Given the description of an element on the screen output the (x, y) to click on. 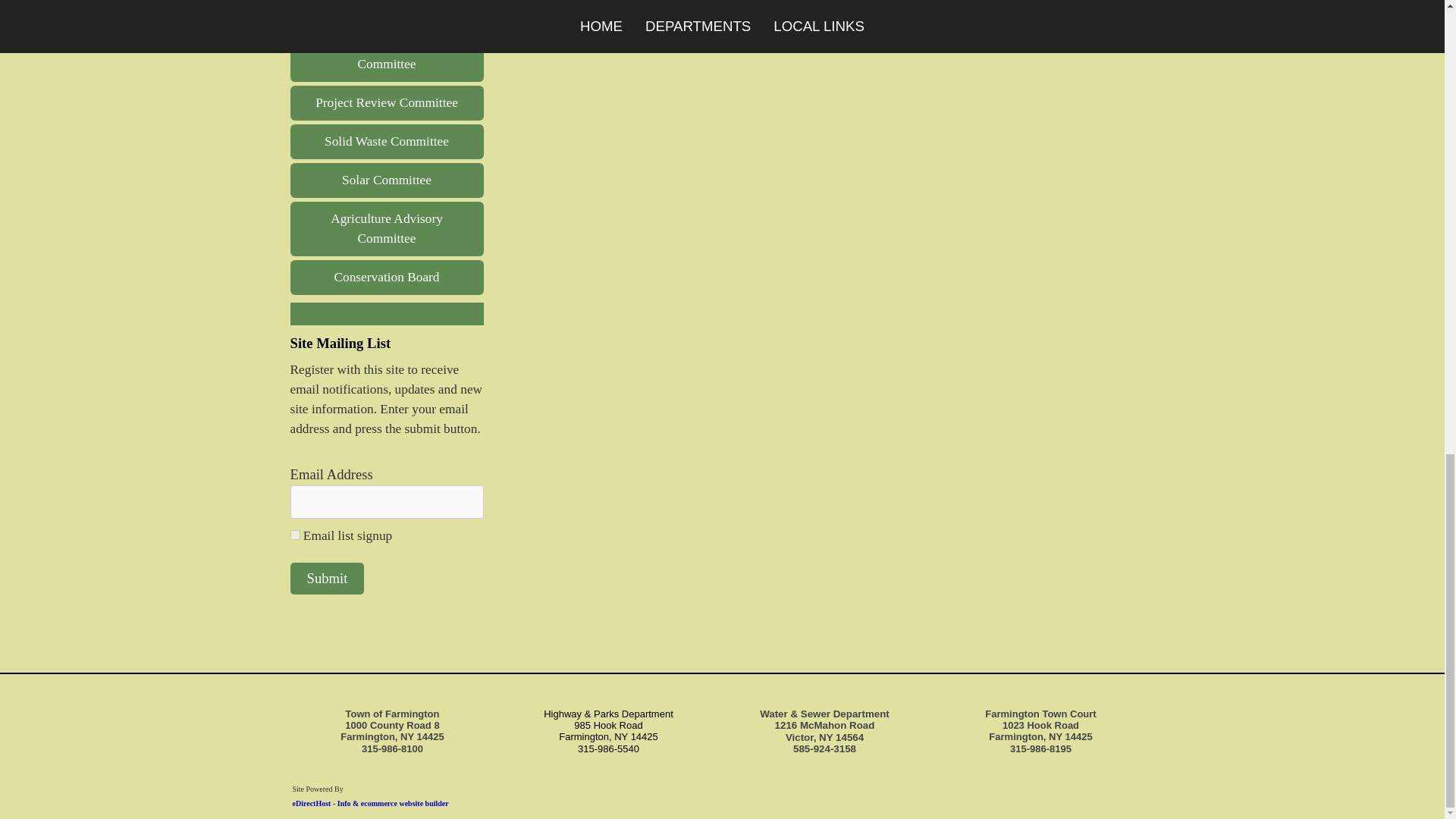
Submit (326, 578)
Project Review Committee (386, 102)
Agriculture Advisory Committee (386, 228)
on (294, 534)
Park Planning Advisory Committee (386, 54)
Solar Committee (386, 180)
Farmland Protection Plan (386, 11)
Conservation Board (386, 277)
Solid Waste Committee (386, 141)
